Given the description of an element on the screen output the (x, y) to click on. 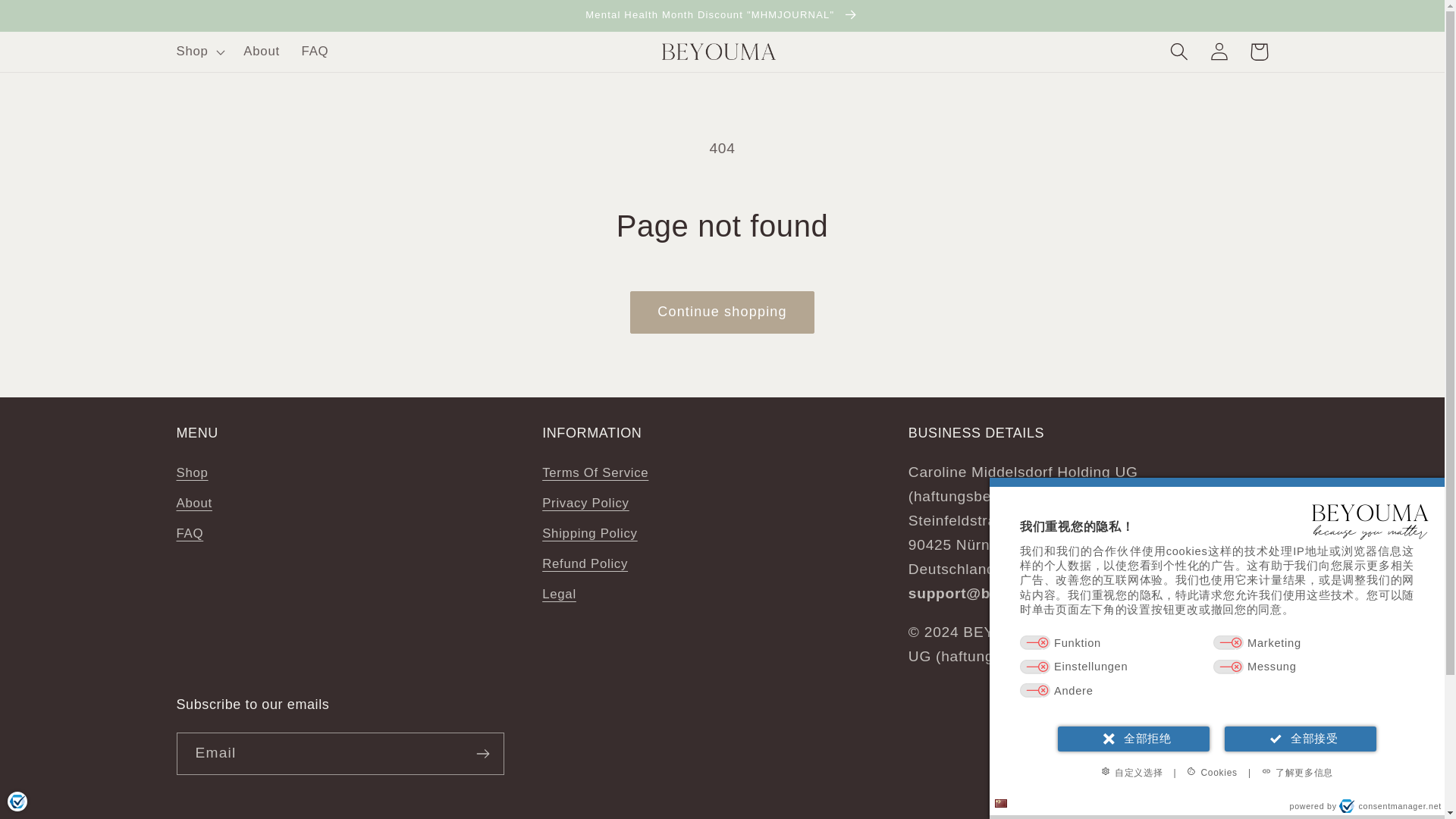
Skip to content (55, 20)
Language: zh (1000, 803)
Cookies (1211, 771)
About (260, 51)
FAQ (314, 51)
consentmanager.net (1390, 806)
Language: zh (1000, 803)
